Given the description of an element on the screen output the (x, y) to click on. 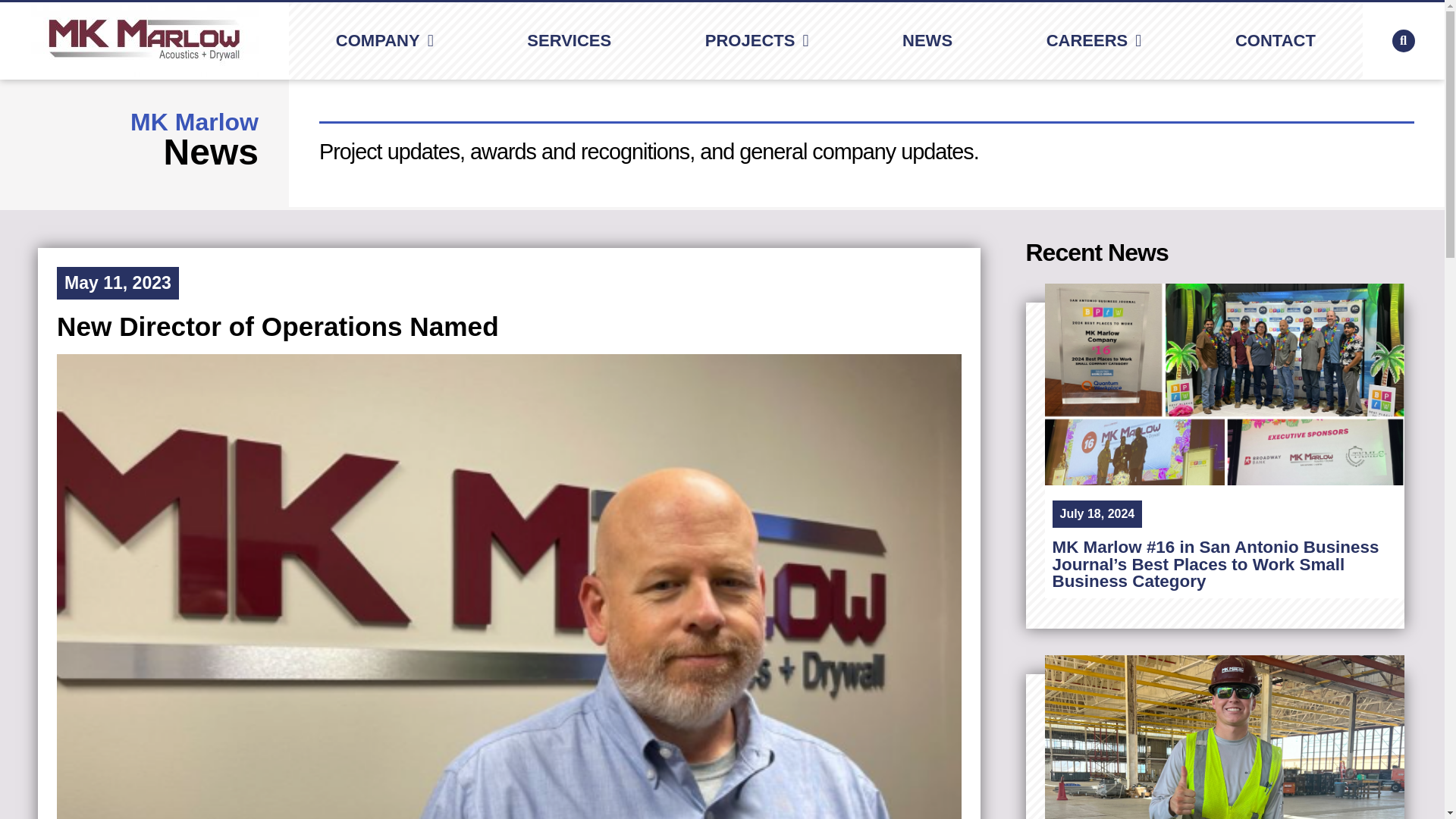
PROJECTS (757, 40)
CAREERS (1093, 40)
NEWS (927, 40)
COMPANY (384, 40)
SERVICES (569, 40)
CONTACT (1275, 40)
